Given the description of an element on the screen output the (x, y) to click on. 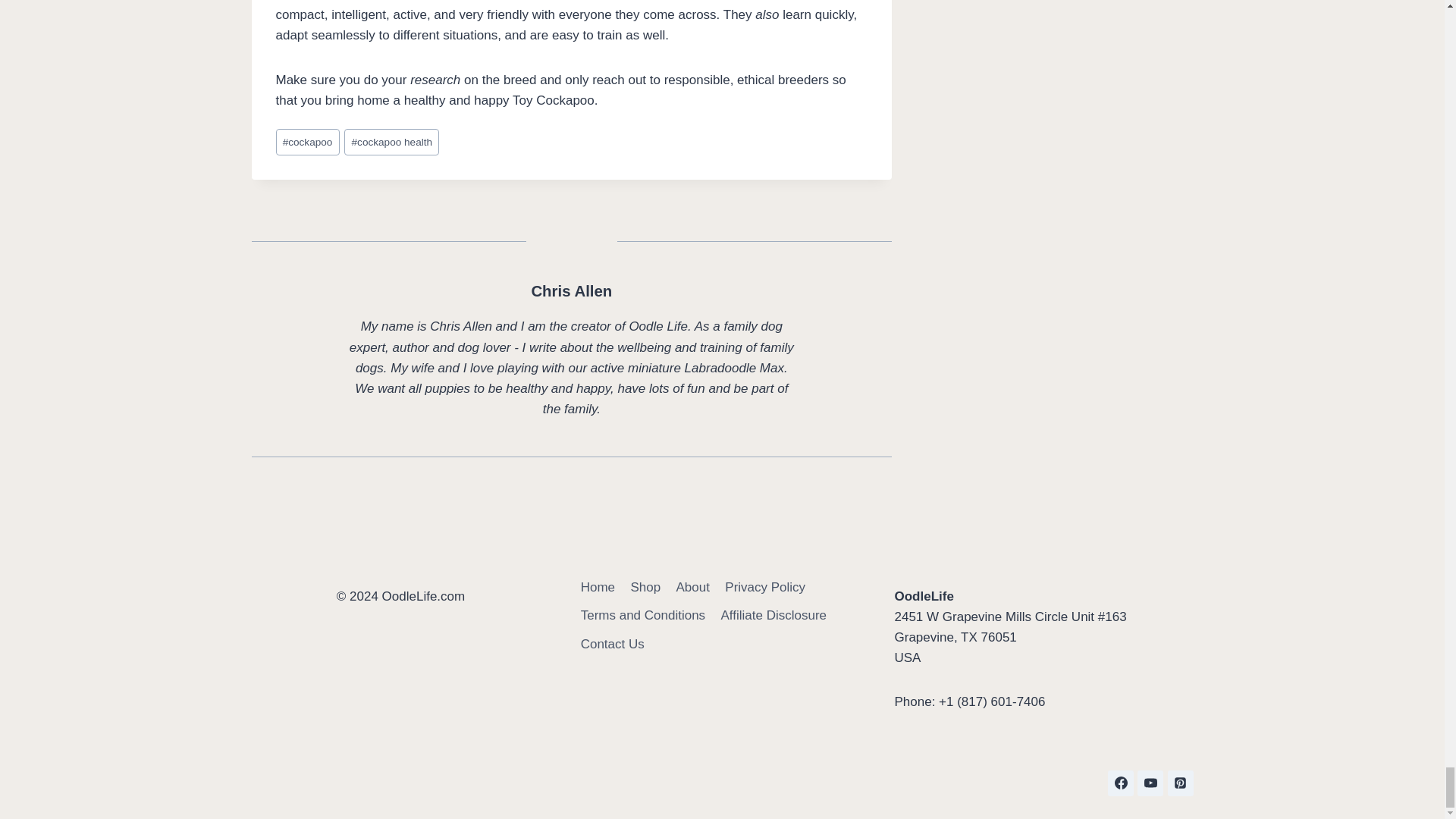
cockapoo (307, 141)
Posts by Chris Allen (571, 290)
cockapoo health (391, 141)
